Given the description of an element on the screen output the (x, y) to click on. 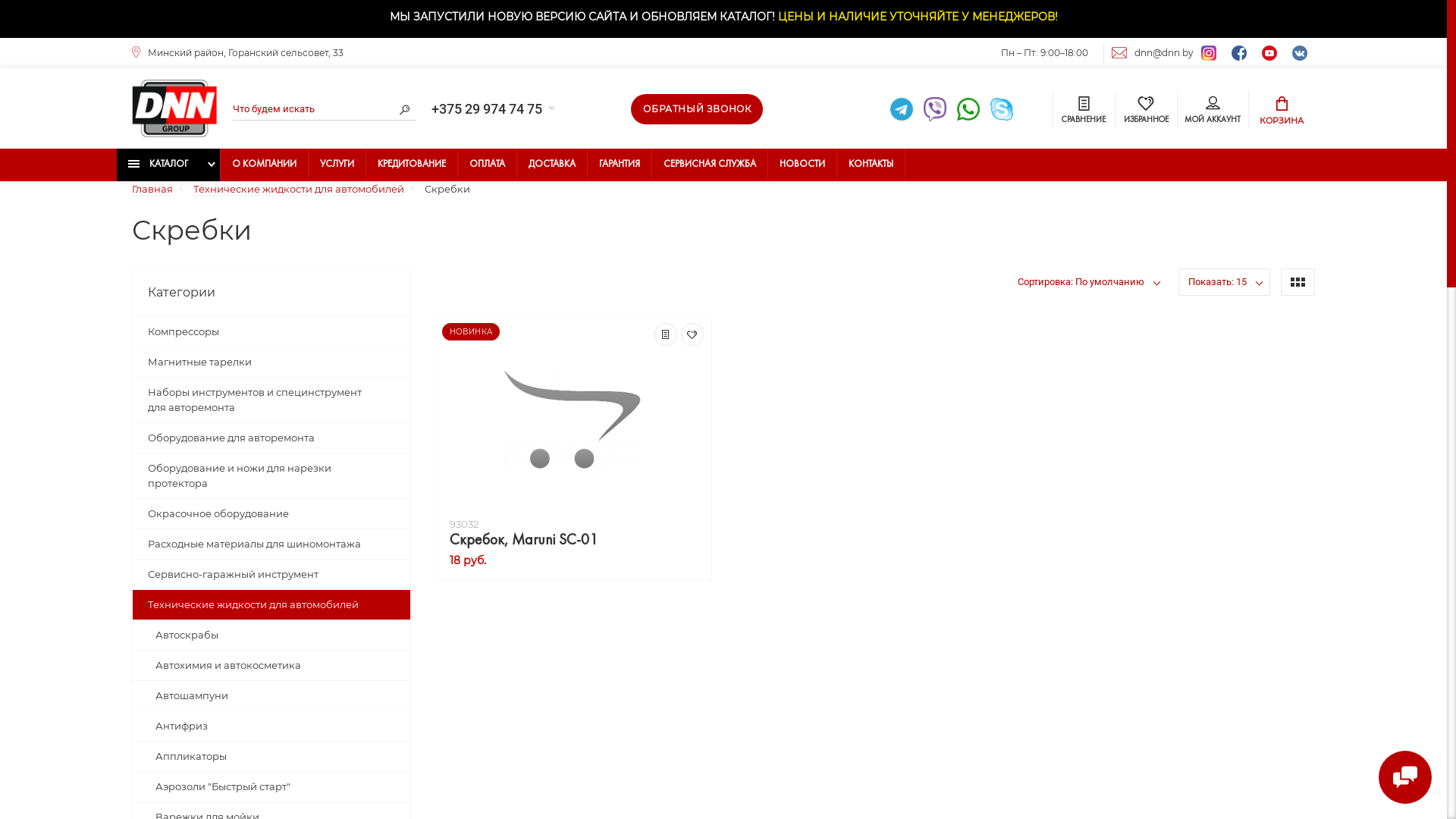
+375 29 974 74 75 Element type: text (492, 108)
